Given the description of an element on the screen output the (x, y) to click on. 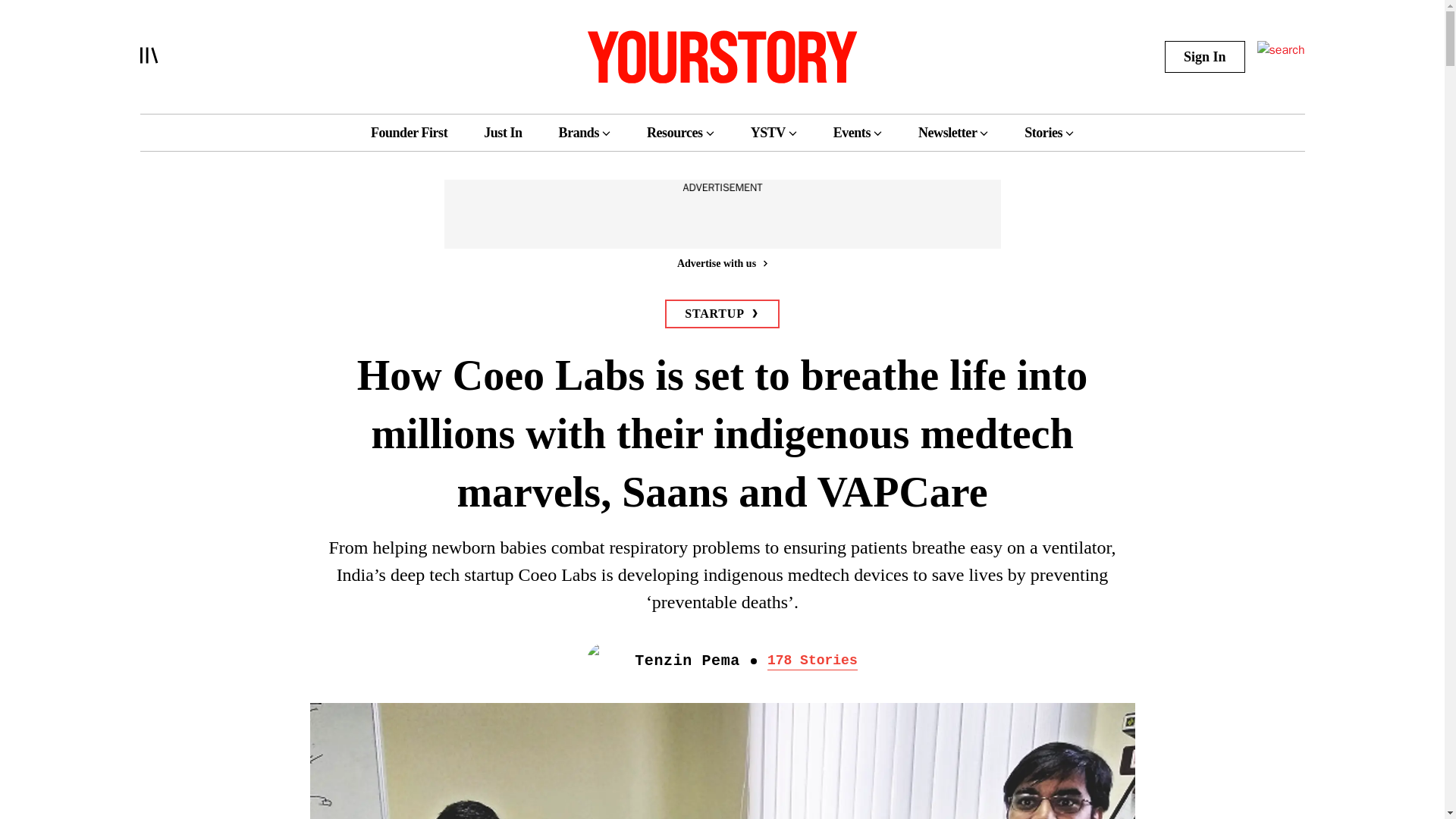
Founder First (408, 132)
Just In (502, 132)
Tenzin Pema (686, 661)
178 Stories (812, 660)
STARTUP (721, 313)
Advertise with us (721, 263)
